Given the description of an element on the screen output the (x, y) to click on. 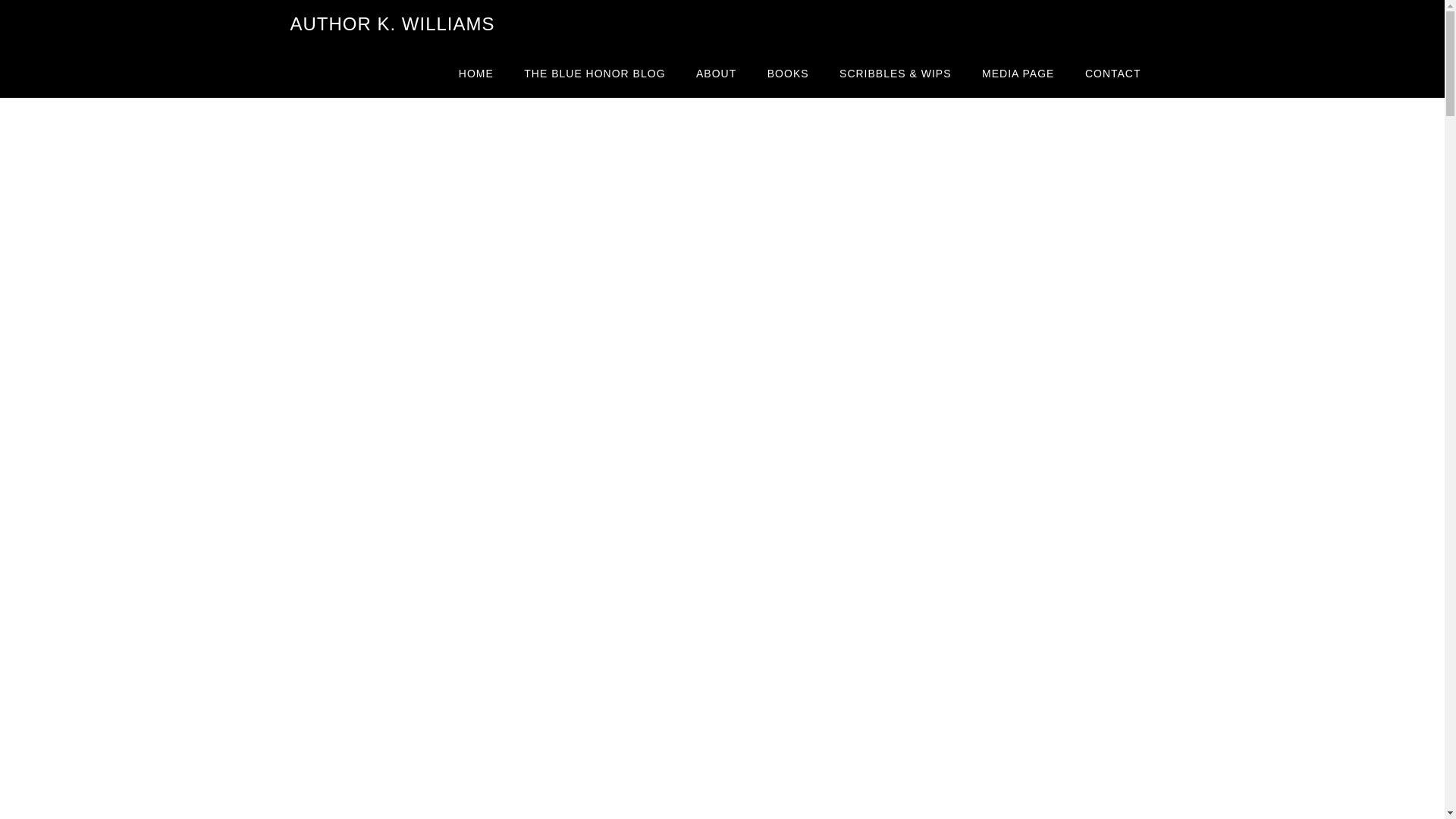
AUTHOR K. WILLIAMS (392, 23)
BOOKS (788, 72)
HOME (475, 72)
CONTACT (1112, 72)
MEDIA PAGE (1017, 72)
THE BLUE HONOR BLOG (594, 72)
ABOUT (715, 72)
